Given the description of an element on the screen output the (x, y) to click on. 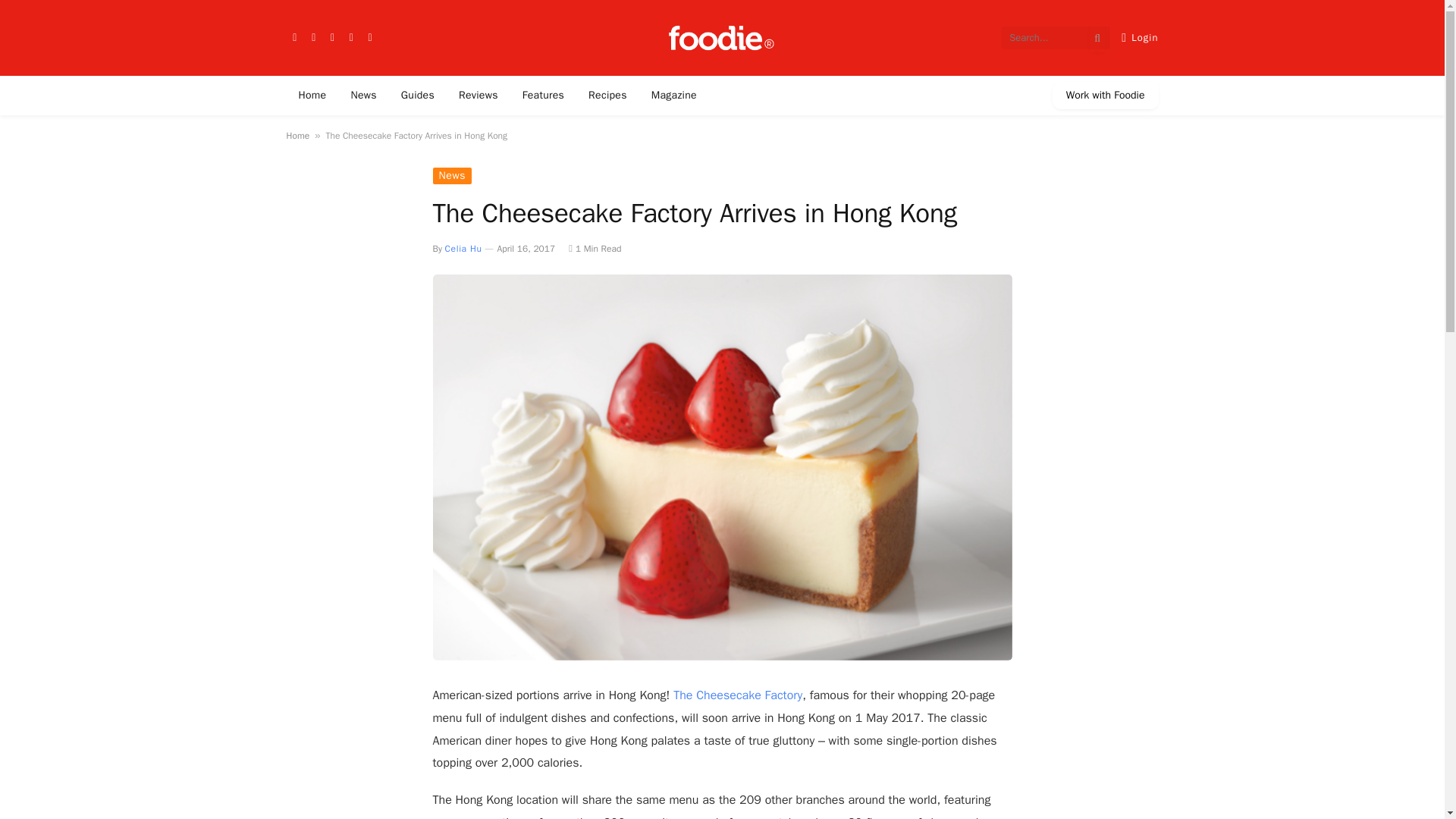
Foodie (722, 38)
Celia Hu (463, 248)
Home (312, 95)
Login (1139, 38)
Posts by Celia Hu (463, 248)
Reviews (478, 95)
Home (298, 135)
Features (543, 95)
Recipes (607, 95)
Work with Foodie (1105, 94)
